Given the description of an element on the screen output the (x, y) to click on. 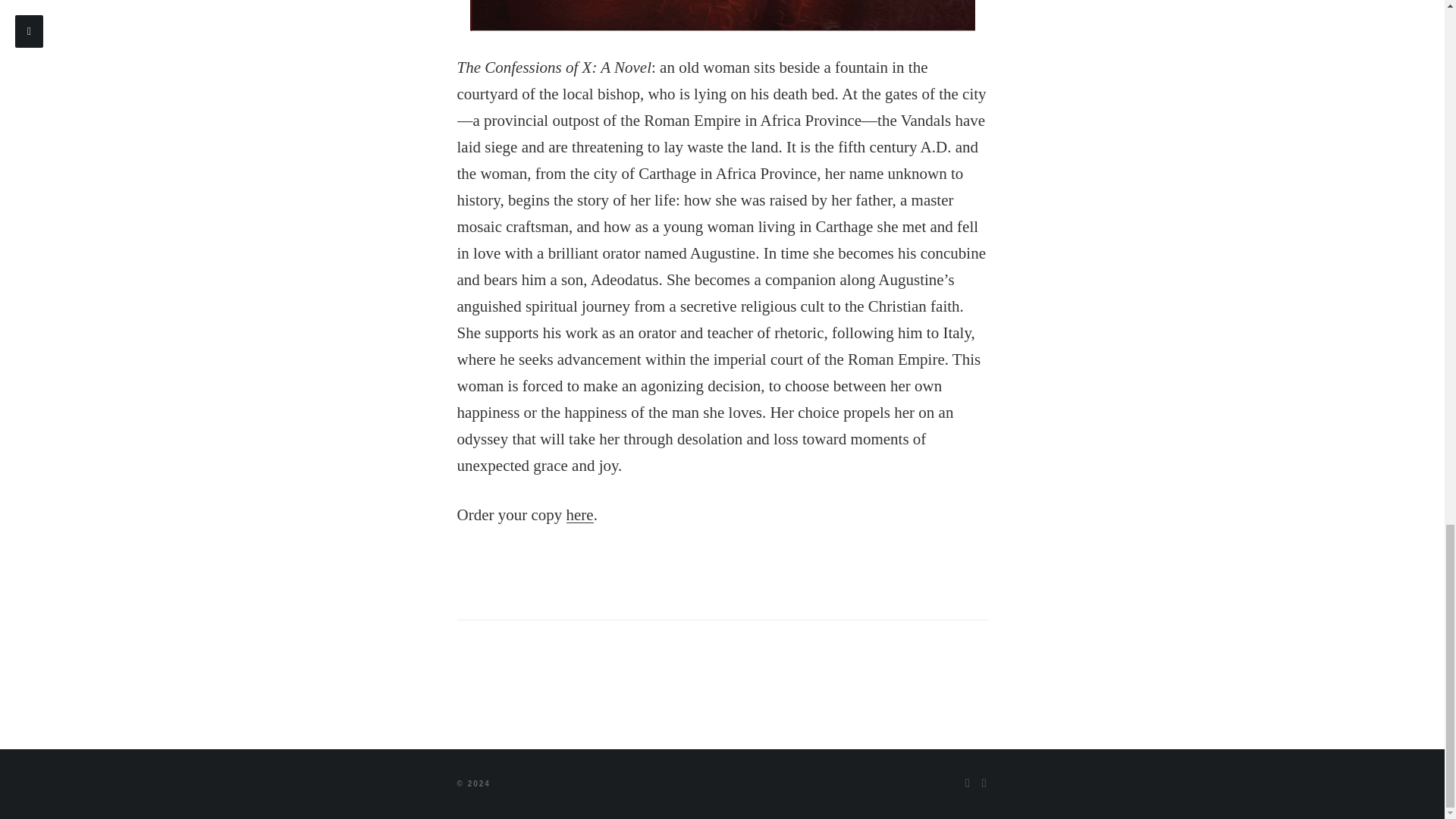
here (580, 515)
